Given the description of an element on the screen output the (x, y) to click on. 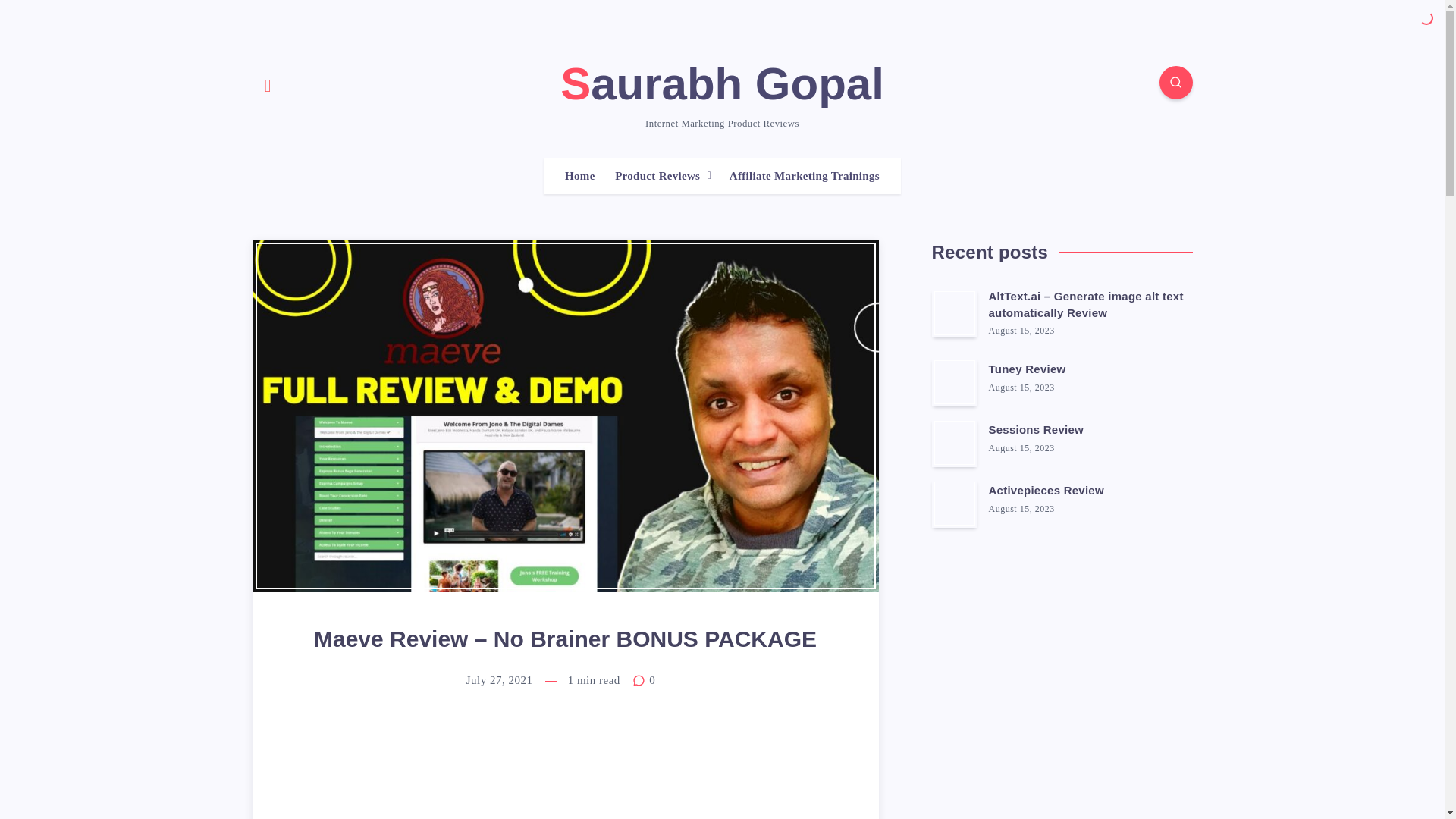
Saurabh Gopal (721, 83)
0 (643, 680)
Home (579, 175)
Affiliate Marketing Trainings (804, 175)
Product Reviews (657, 175)
0 Comments (643, 680)
